Given the description of an element on the screen output the (x, y) to click on. 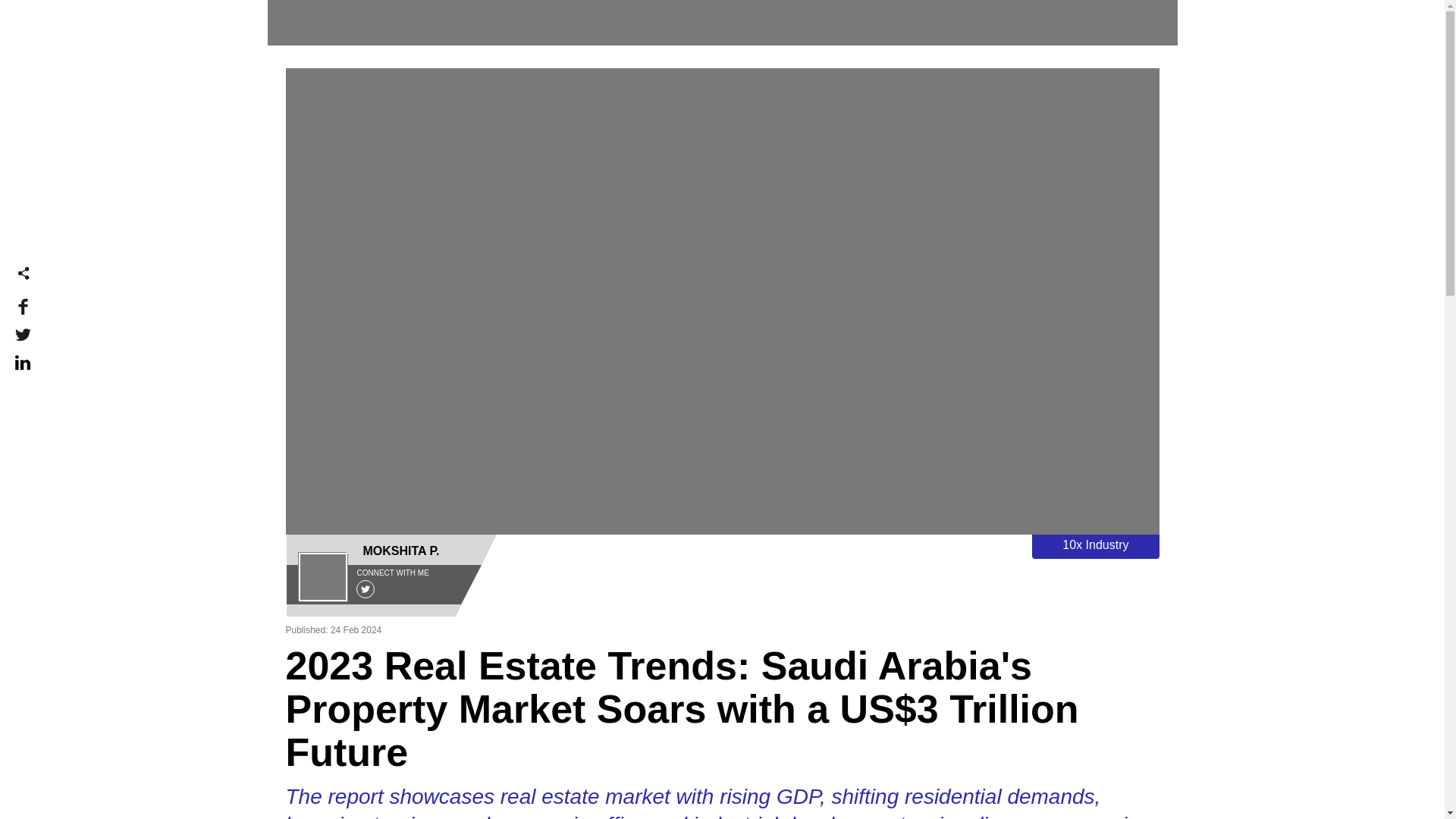
10X TECHNOLOGY (775, 31)
10x Industry (1095, 546)
SME STORIES (487, 31)
SUBSCRIBE (1091, 31)
10X PEOPLE (674, 31)
10X INDUSTRY (582, 31)
ABOUT SME10X (1000, 31)
WHAT'S THE DEAL (890, 31)
HOME (414, 31)
